Given the description of an element on the screen output the (x, y) to click on. 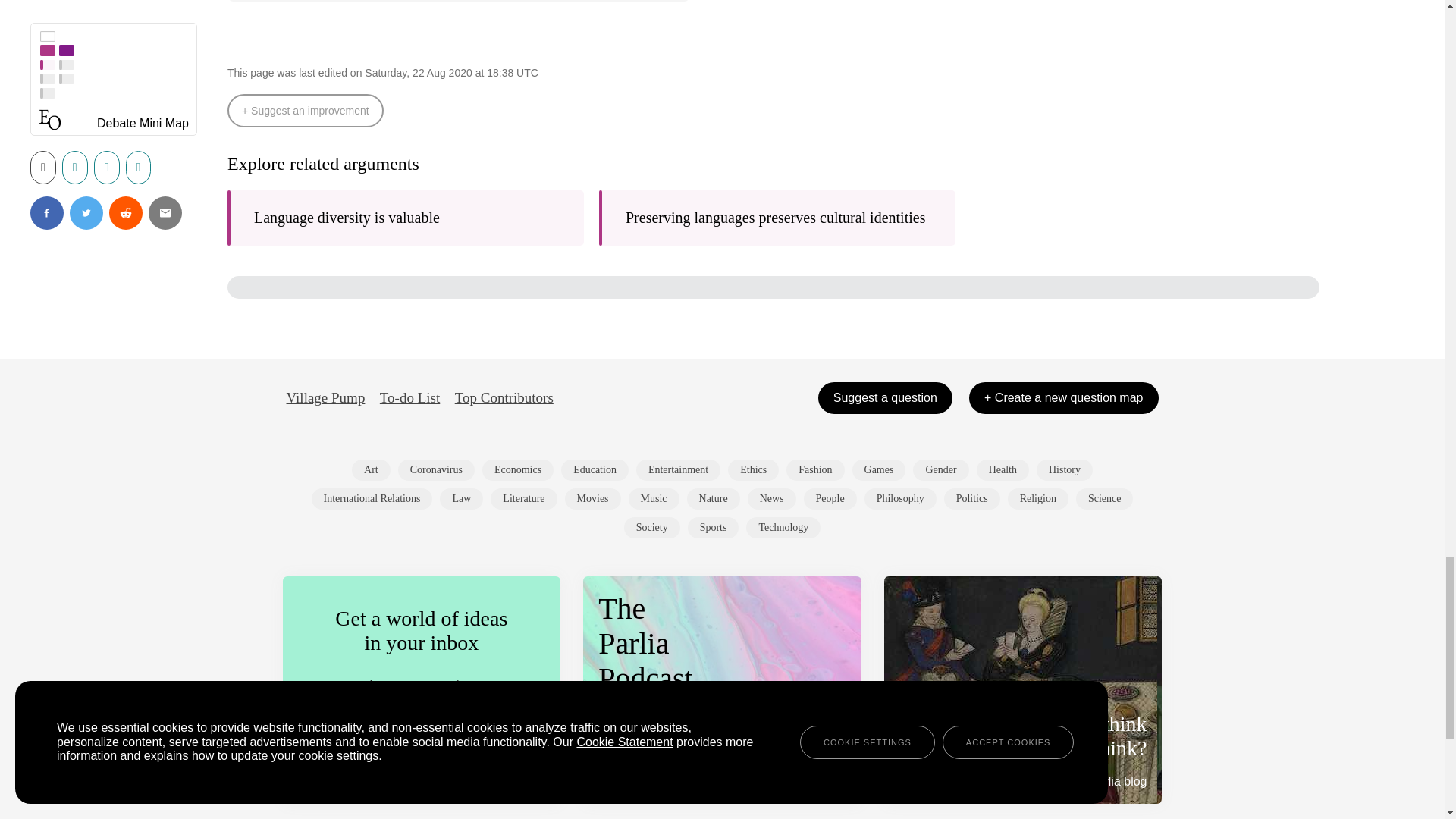
Category item (815, 469)
Category item (678, 469)
Category item (371, 498)
Category item (435, 469)
Category item (1002, 469)
Category item (592, 498)
Category item (523, 498)
Category item (753, 469)
Category item (878, 469)
Category item (1064, 469)
Category item (517, 469)
Category item (940, 469)
Category item (371, 469)
Category item (461, 498)
Category item (594, 469)
